Given the description of an element on the screen output the (x, y) to click on. 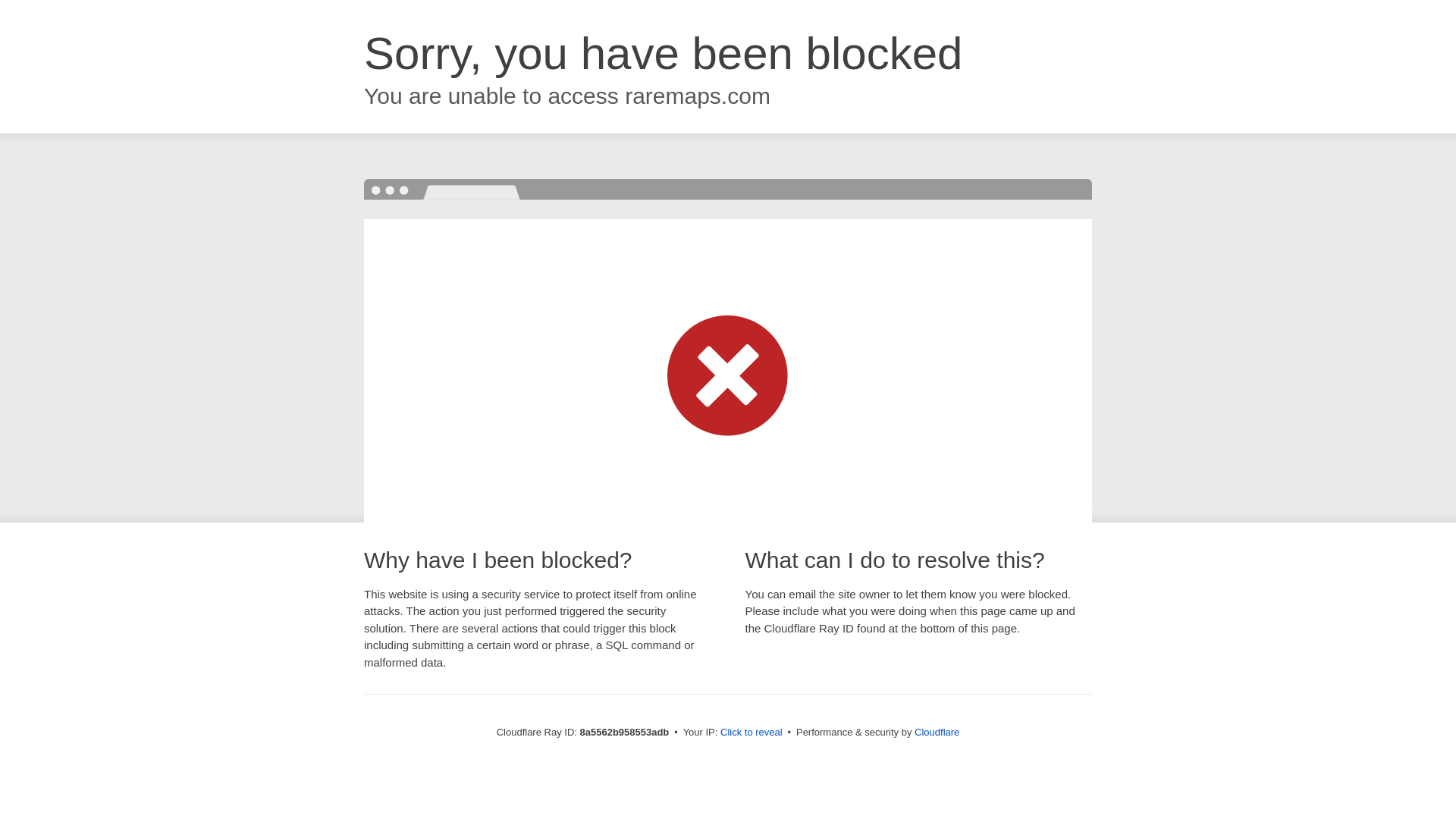
Cloudflare (936, 731)
Click to reveal (751, 732)
